Given the description of an element on the screen output the (x, y) to click on. 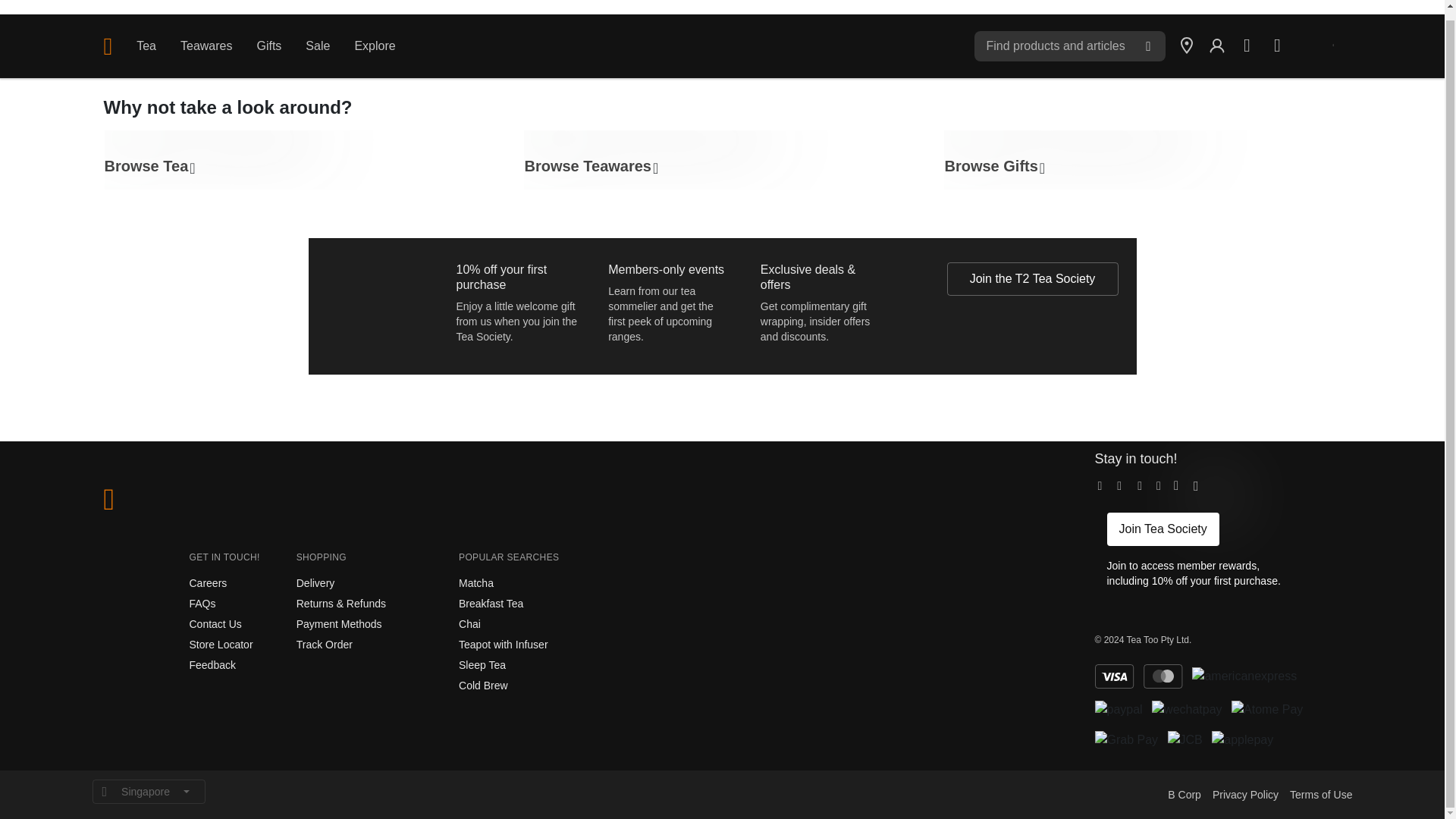
Go to FAQs (202, 603)
Go to Delivery (315, 582)
Store Locator (221, 644)
Go to Careers (208, 582)
Matcha (475, 582)
Go to Contact Us (215, 623)
Go to Payment Methods (339, 623)
Wishlist (1246, 45)
Track Order (324, 644)
Feedback (212, 664)
